Given the description of an element on the screen output the (x, y) to click on. 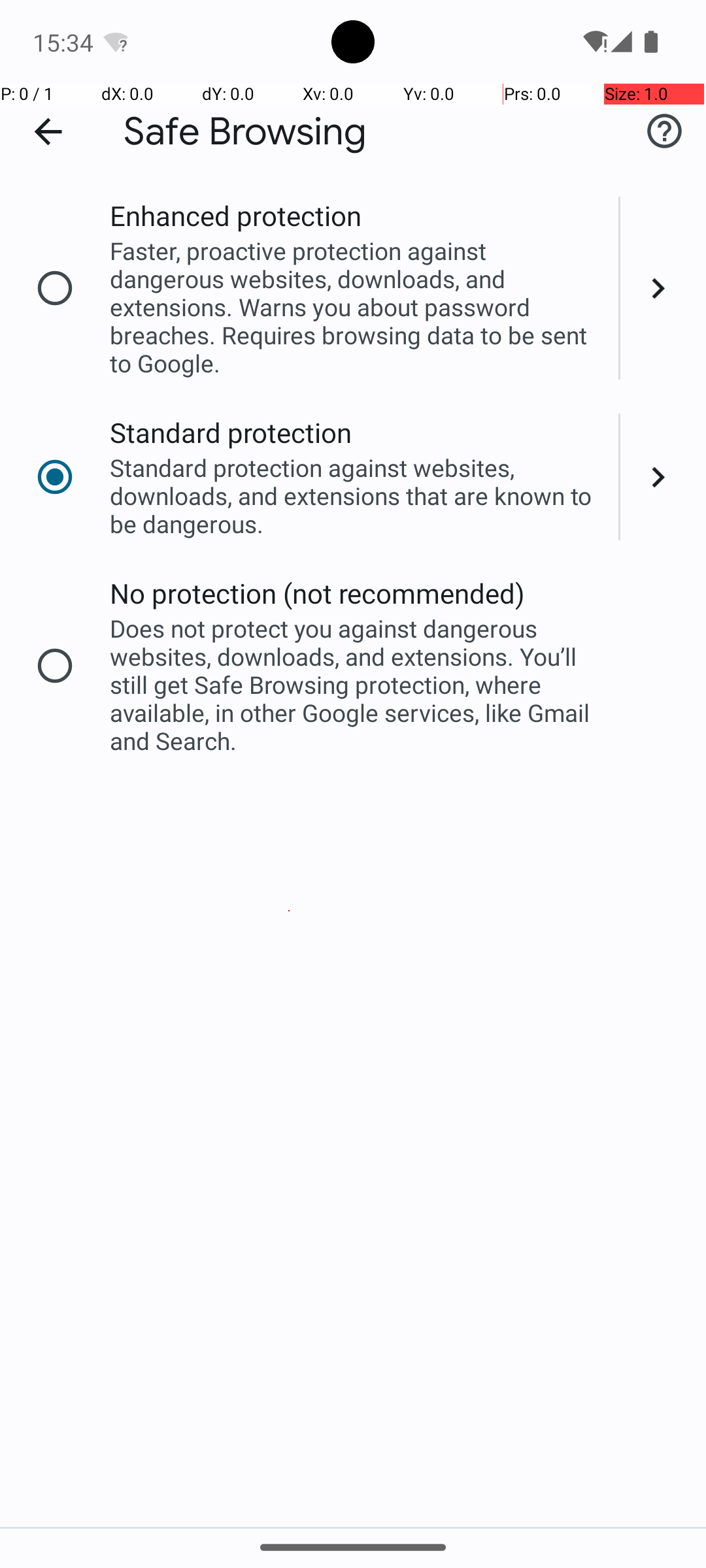
Safe Browsing Element type: android.widget.TextView (244, 131)
Enhanced protection Element type: android.widget.TextView (235, 214)
Faster, proactive protection against dangerous websites, downloads, and extensions. Warns you about password breaches. Requires browsing data to be sent to Google. Element type: android.widget.TextView (355, 306)
Standard protection Element type: android.widget.TextView (230, 431)
Standard protection against websites, downloads, and extensions that are known to be dangerous. Element type: android.widget.TextView (355, 495)
No protection (not recommended) Element type: android.widget.TextView (317, 592)
Does not protect you against dangerous websites, downloads, and extensions. You’ll still get Safe Browsing protection, where available, in other Google services, like Gmail and Search. Element type: android.widget.TextView (355, 684)
